Given the description of an element on the screen output the (x, y) to click on. 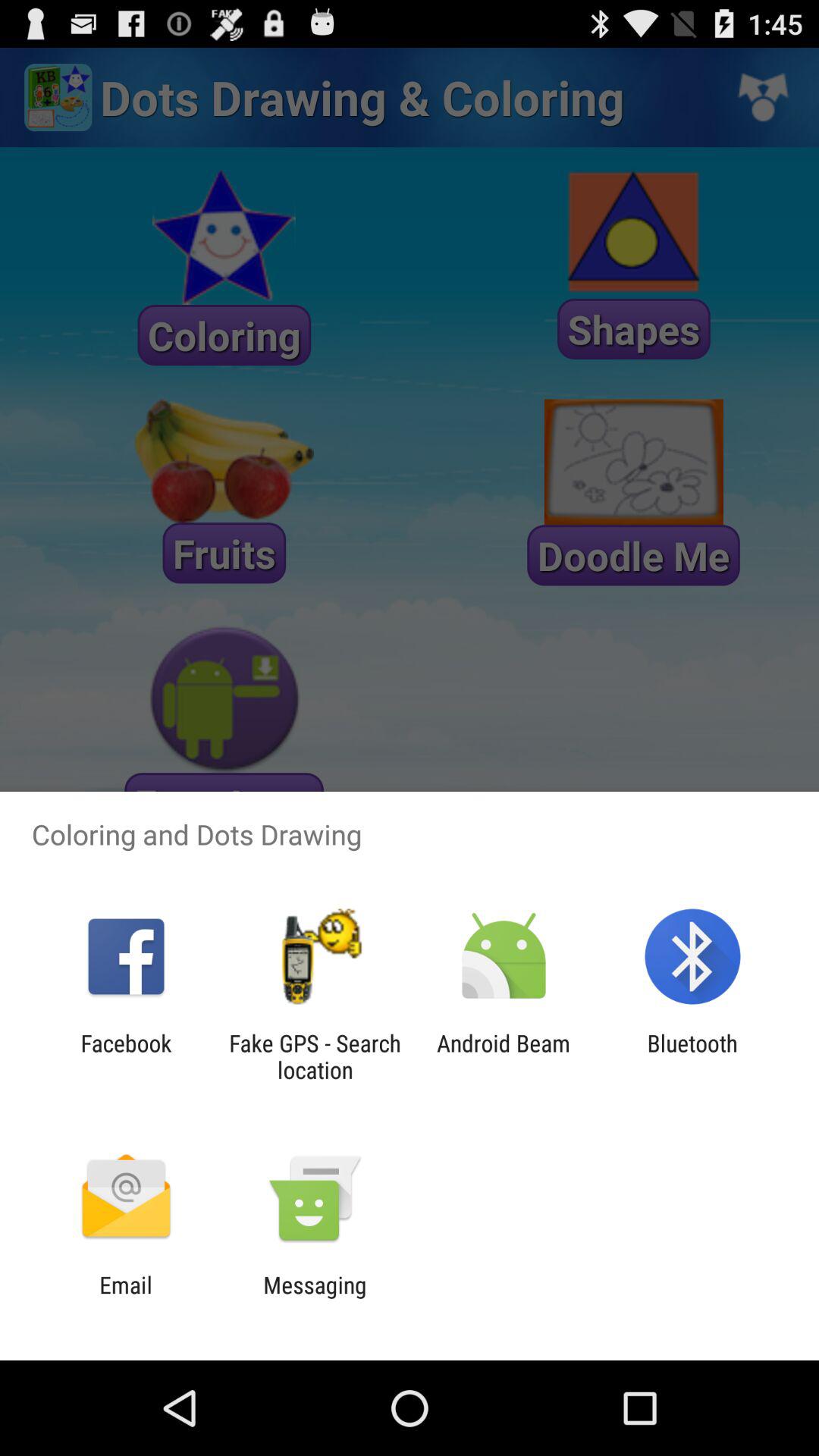
choose icon next to fake gps search item (125, 1056)
